Given the description of an element on the screen output the (x, y) to click on. 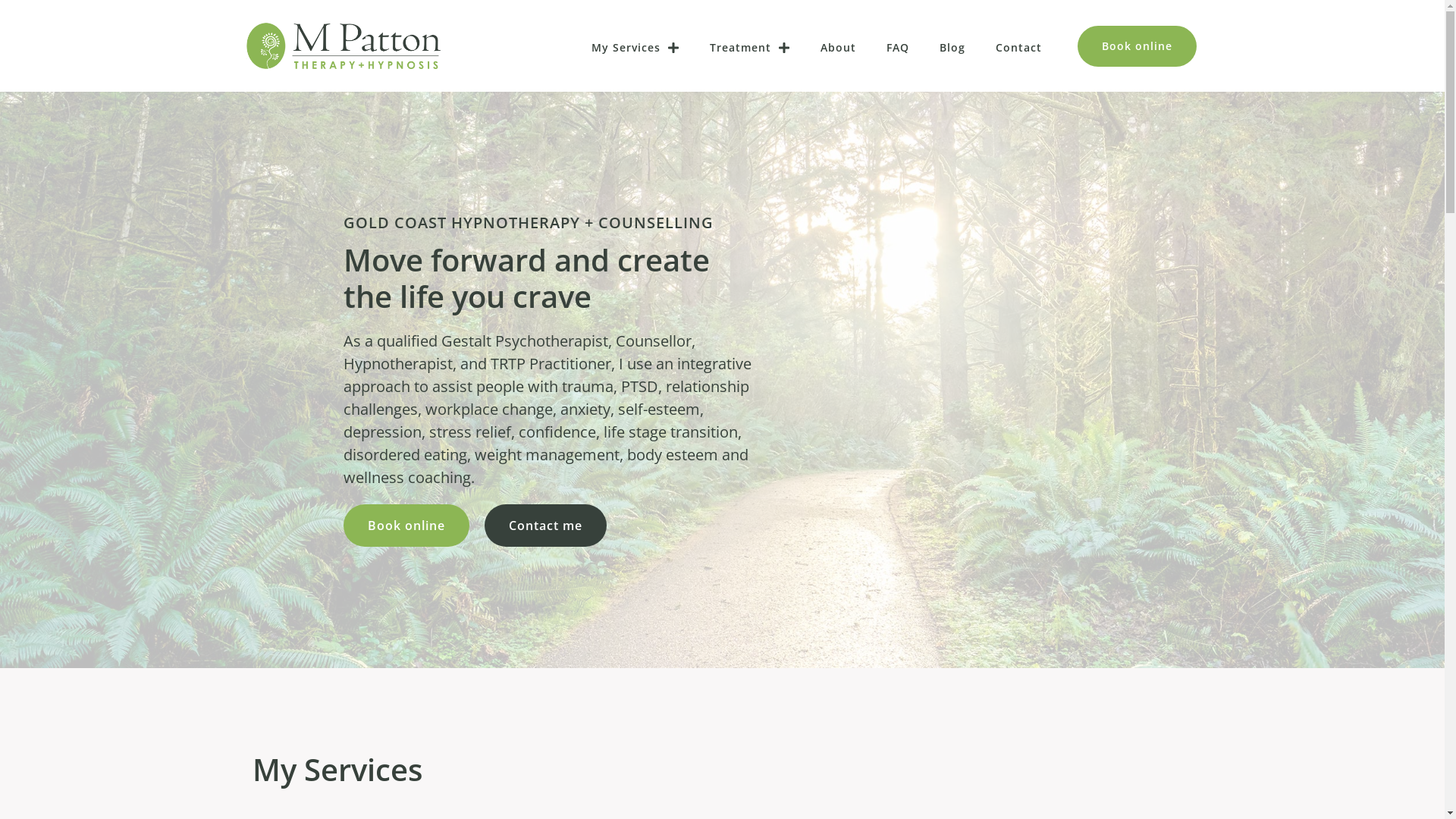
Contact Element type: text (1017, 47)
Blog Element type: text (951, 47)
FAQ Element type: text (896, 47)
Contact me Element type: text (544, 525)
Treatment Element type: text (749, 47)
Book online Element type: text (1136, 45)
My Services Element type: text (635, 47)
Book online Element type: text (405, 525)
About Element type: text (838, 47)
